Given the description of an element on the screen output the (x, y) to click on. 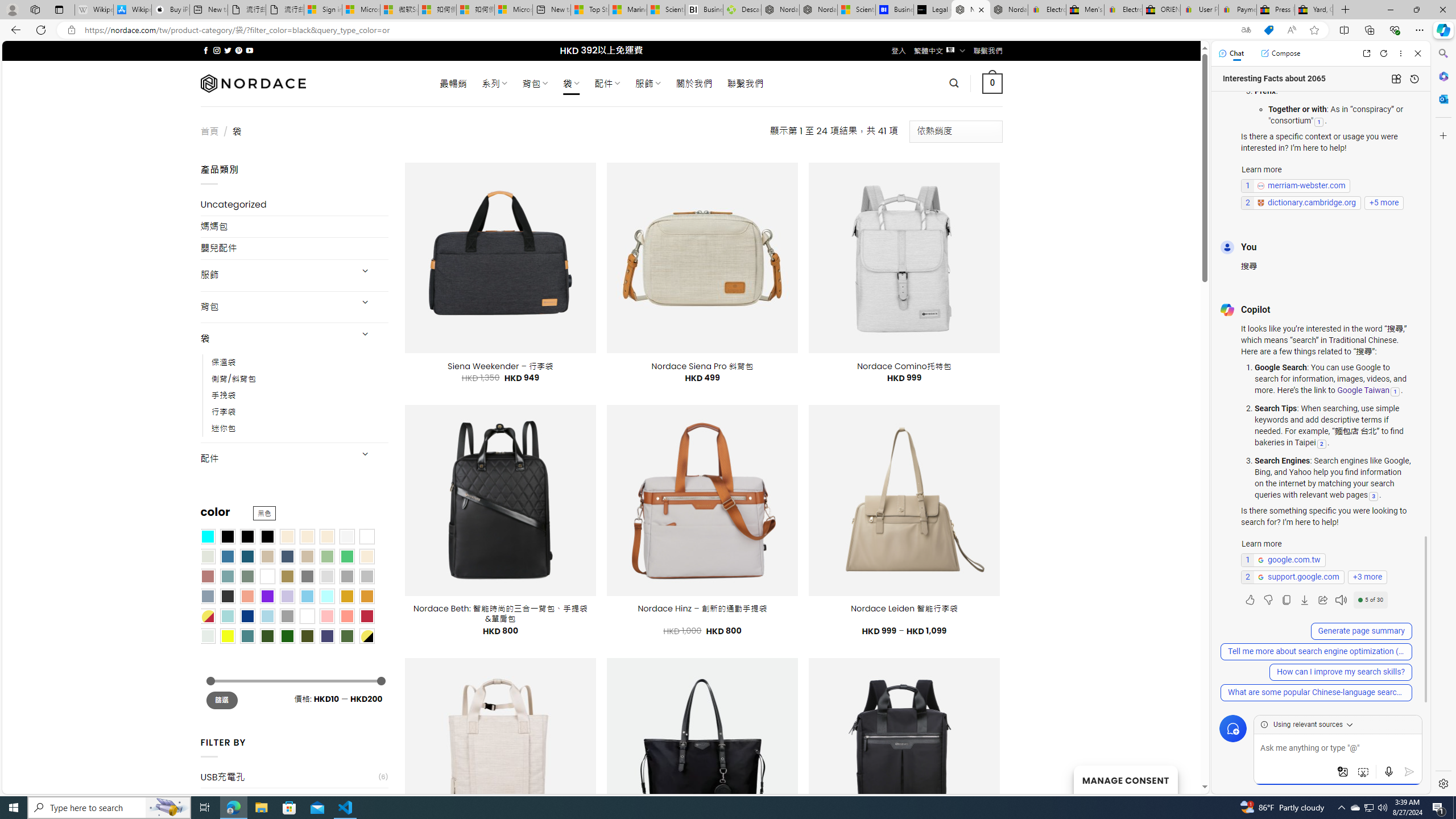
Payments Terms of Use | eBay.com (1237, 9)
Minimize Search pane (1442, 53)
